Given the description of an element on the screen output the (x, y) to click on. 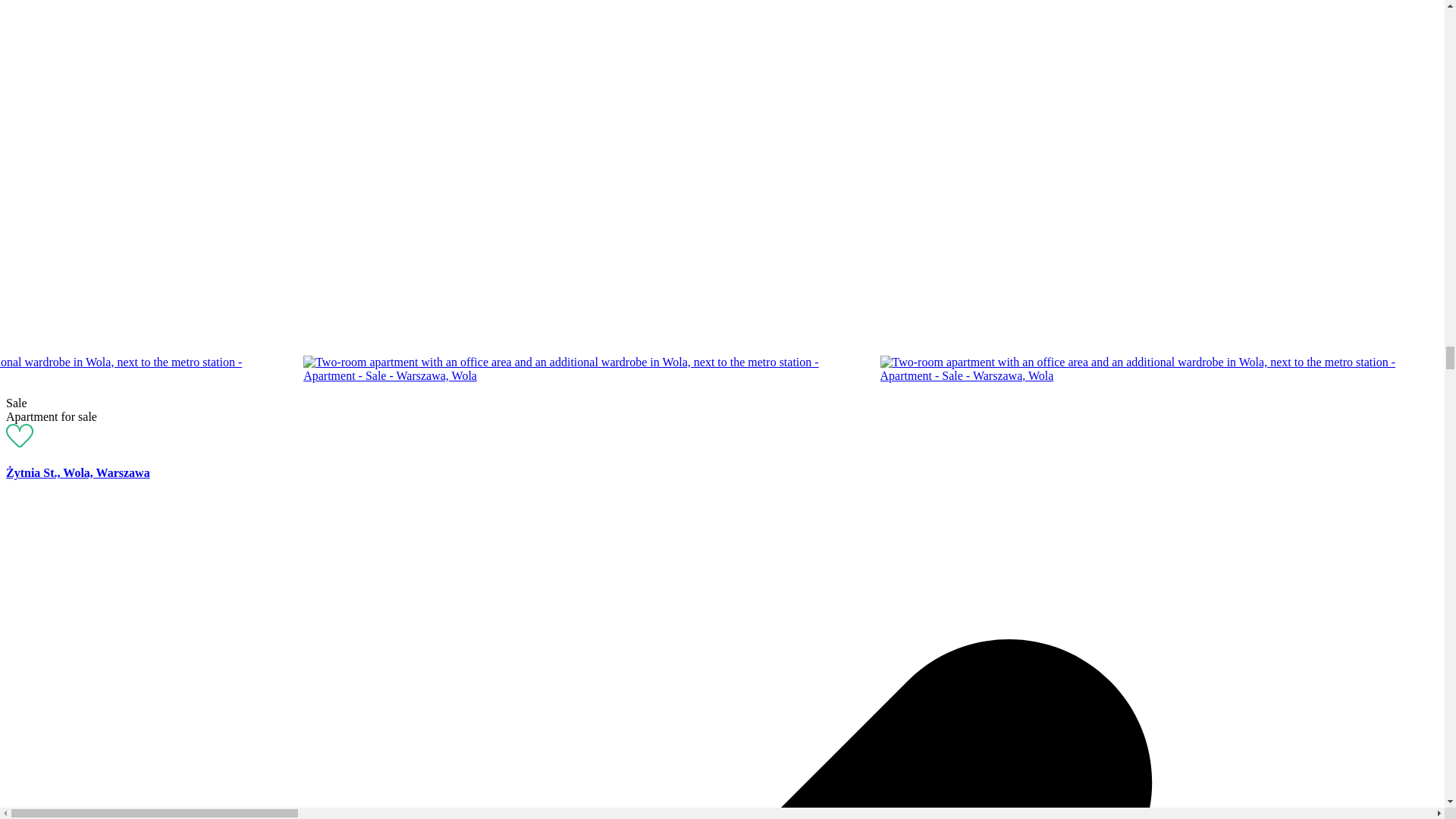
Add offer to favorites (19, 442)
